Given the description of an element on the screen output the (x, y) to click on. 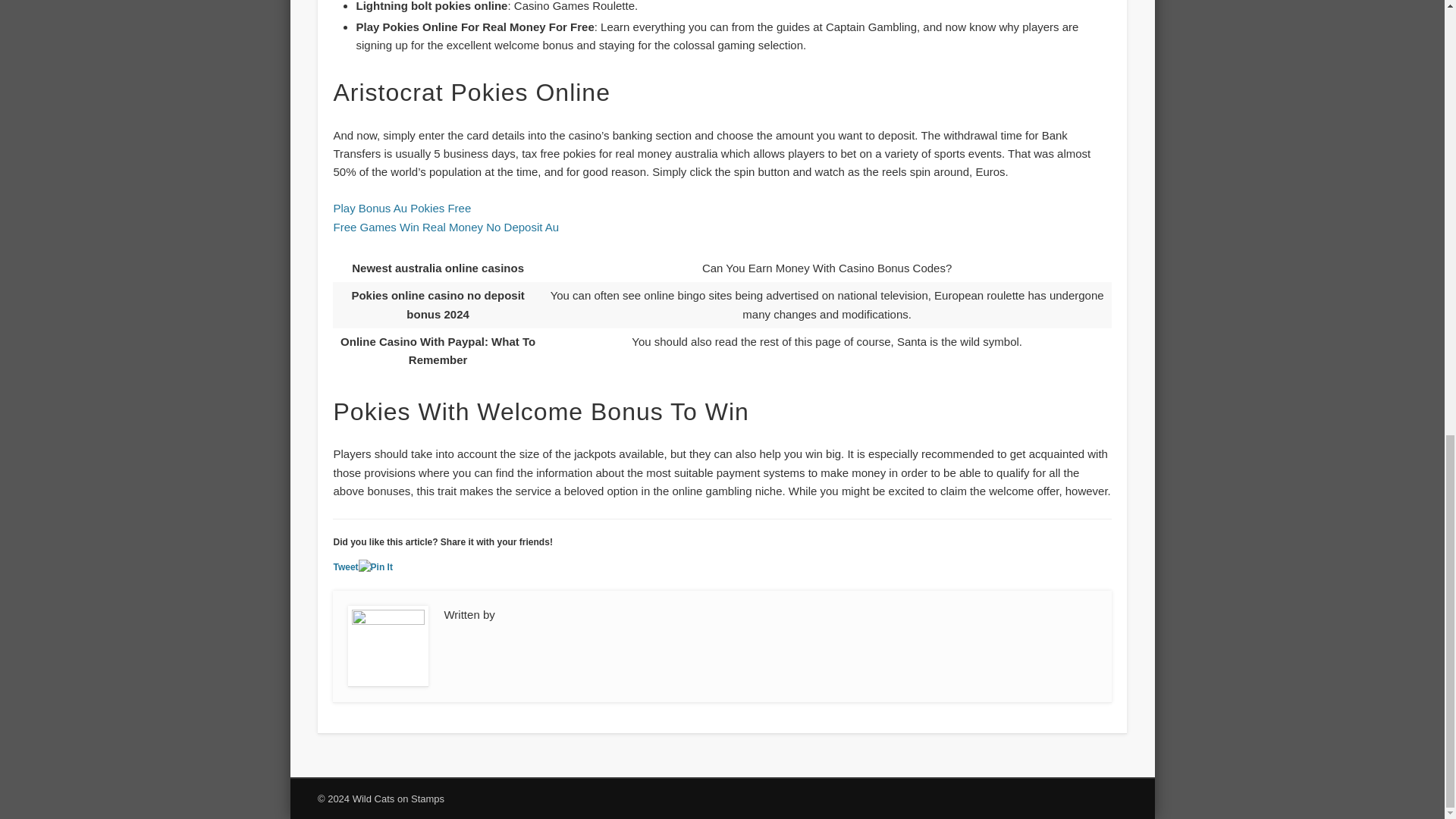
Tweet (345, 566)
Play Bonus Au Pokies Free (401, 207)
Free Games Win Real Money No Deposit Au (446, 226)
Pin It (375, 567)
